Given the description of an element on the screen output the (x, y) to click on. 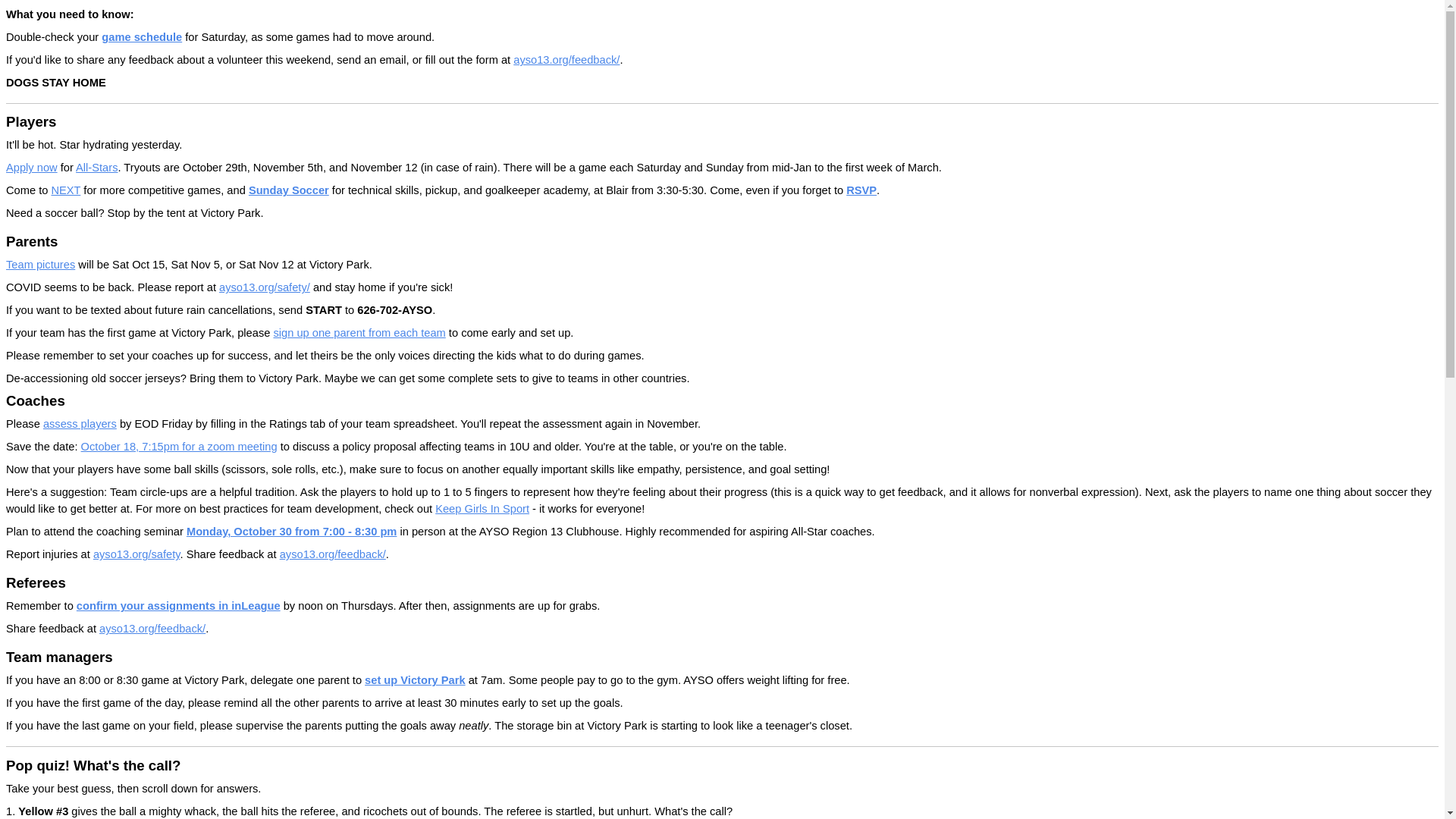
set up Victory Park (415, 680)
Team pictures (40, 264)
Sunday Soccer (288, 190)
Apply now (31, 167)
game schedule (141, 37)
sign up one parent from each team (359, 332)
All-Stars (96, 167)
confirm your assignments in inLeague (179, 605)
assess players (79, 423)
RSVP (860, 190)
